Given the description of an element on the screen output the (x, y) to click on. 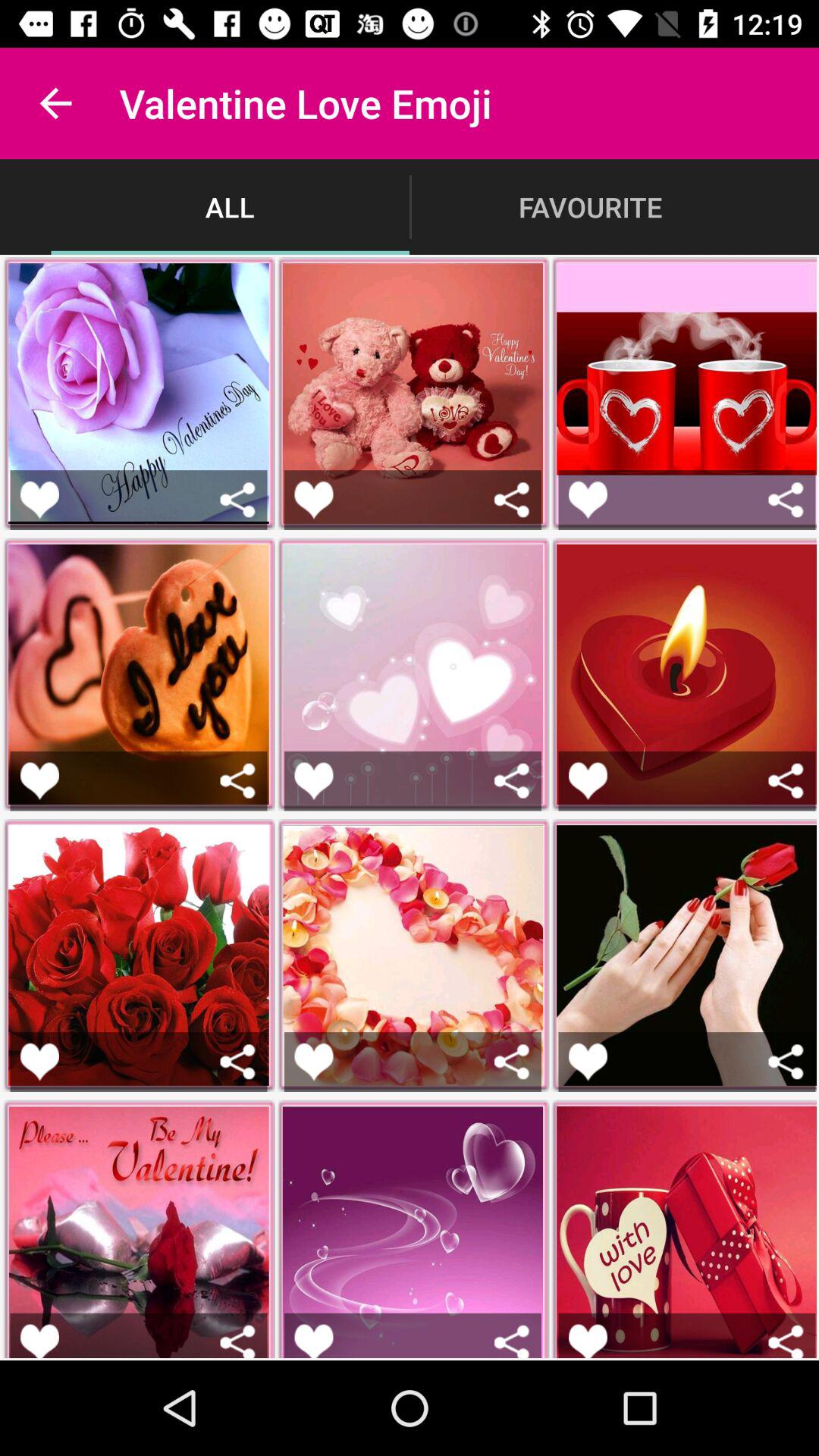
share (785, 499)
